Given the description of an element on the screen output the (x, y) to click on. 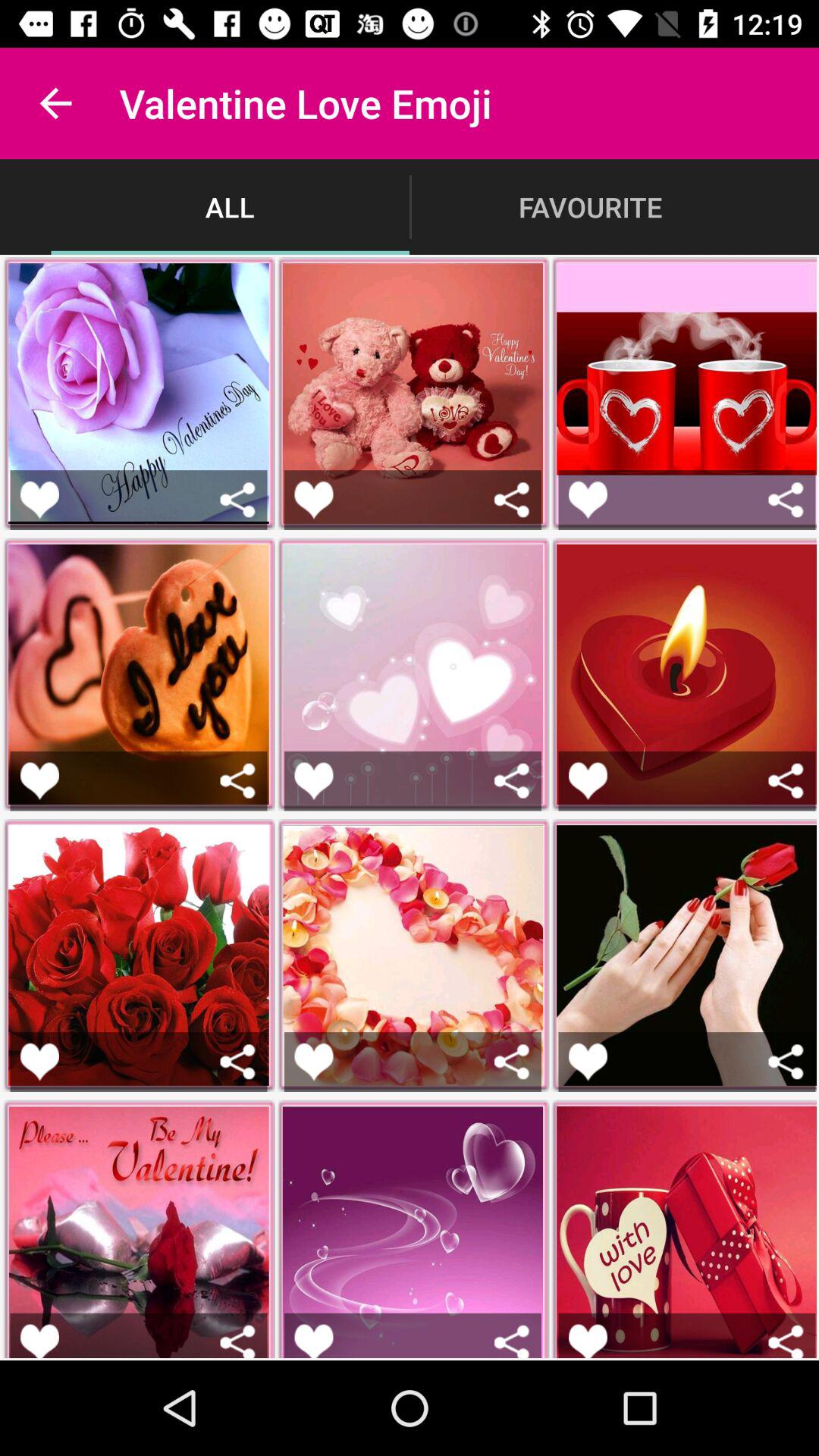
share (785, 499)
